Given the description of an element on the screen output the (x, y) to click on. 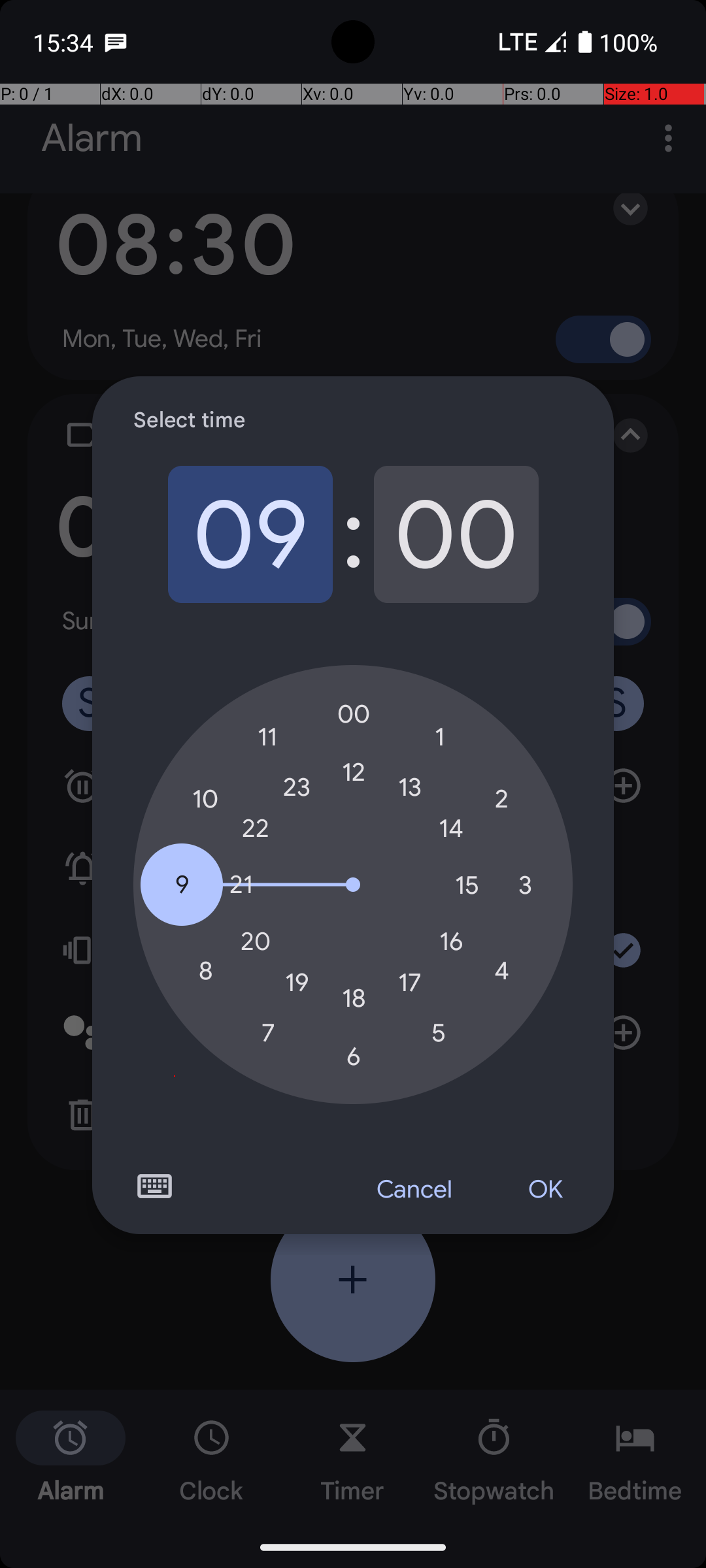
09 Element type: android.view.View (250, 534)
